Given the description of an element on the screen output the (x, y) to click on. 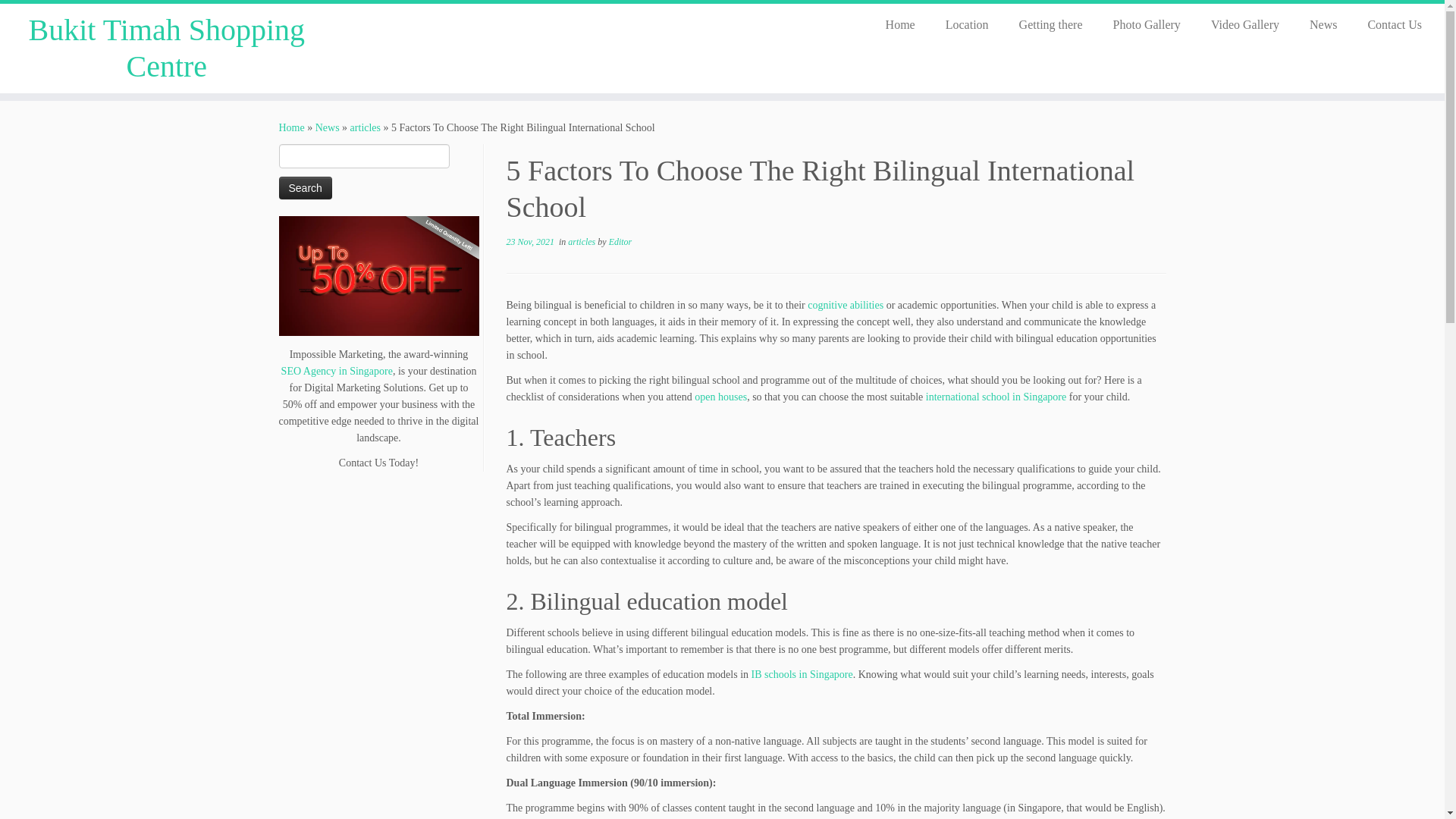
23 Nov, 2021 (530, 241)
Digital Marketing Agency Singapore (379, 275)
View all posts by Editor (619, 241)
articles (365, 127)
Home (900, 24)
News (1323, 24)
Editor (619, 241)
cognitive abilities (845, 305)
News (327, 127)
News (327, 127)
Getting there (1050, 24)
international school in Singapore (995, 396)
Location (967, 24)
Bukit Timah Shopping Centre (291, 127)
Bukit Timah Shopping Centre (166, 48)
